Given the description of an element on the screen output the (x, y) to click on. 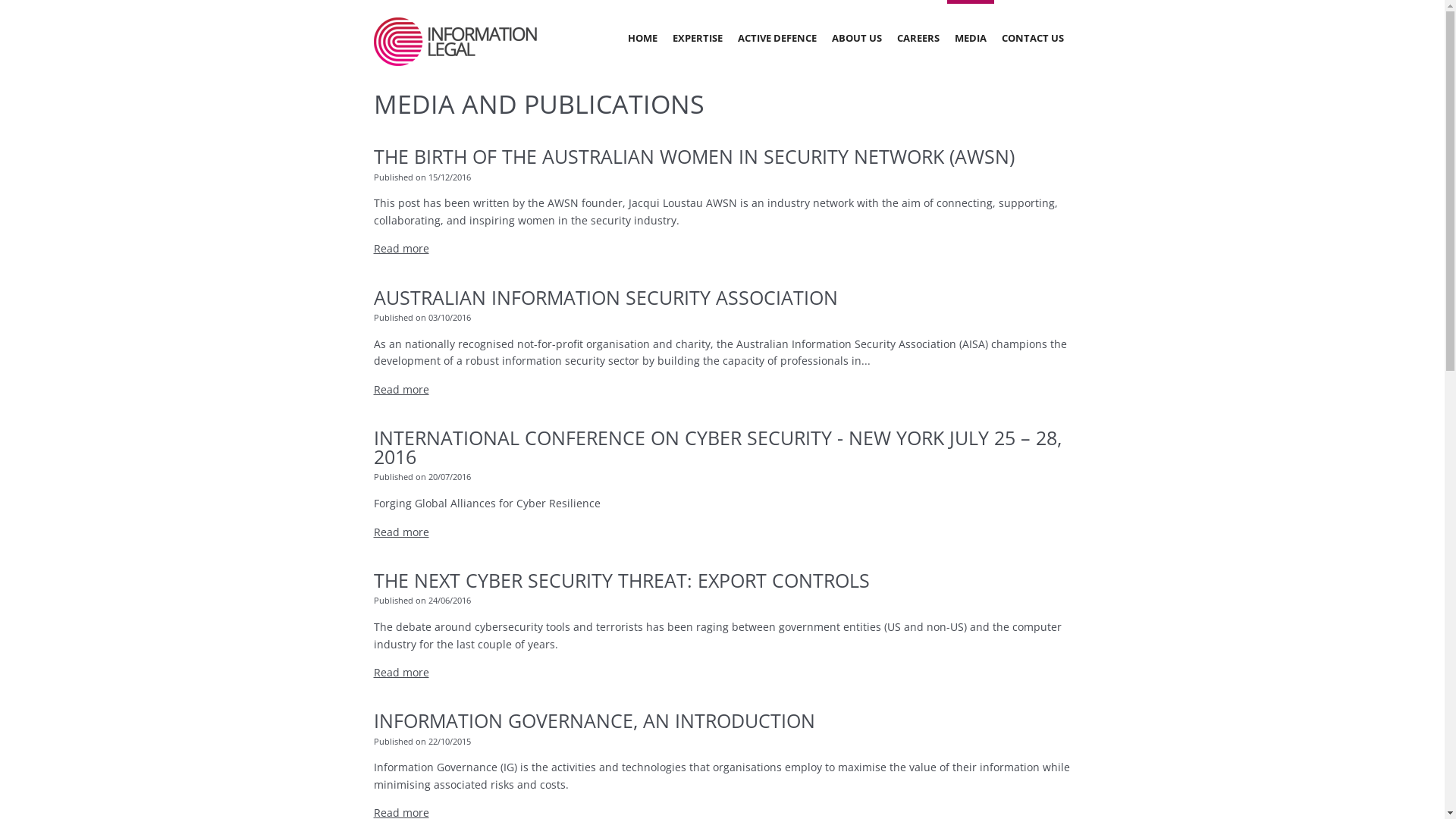
AUSTRALIAN INFORMATION SECURITY ASSOCIATION Element type: text (605, 297)
CONTACT US Element type: text (1031, 37)
ABOUT US Element type: text (855, 37)
THE BIRTH OF THE AUSTRALIAN WOMEN IN SECURITY NETWORK (AWSN) Element type: text (693, 156)
MEDIA Element type: text (969, 37)
Read more Element type: text (400, 672)
Read more Element type: text (400, 531)
ACTIVE DEFENCE Element type: text (776, 37)
Read more Element type: text (400, 389)
CAREERS Element type: text (917, 37)
Read more Element type: text (400, 248)
THE NEXT CYBER SECURITY THREAT: EXPORT CONTROLS Element type: text (621, 580)
EXPERTISE Element type: text (696, 37)
INFORMATION GOVERNANCE, AN INTRODUCTION Element type: text (593, 720)
HOME Element type: text (642, 37)
